Given the description of an element on the screen output the (x, y) to click on. 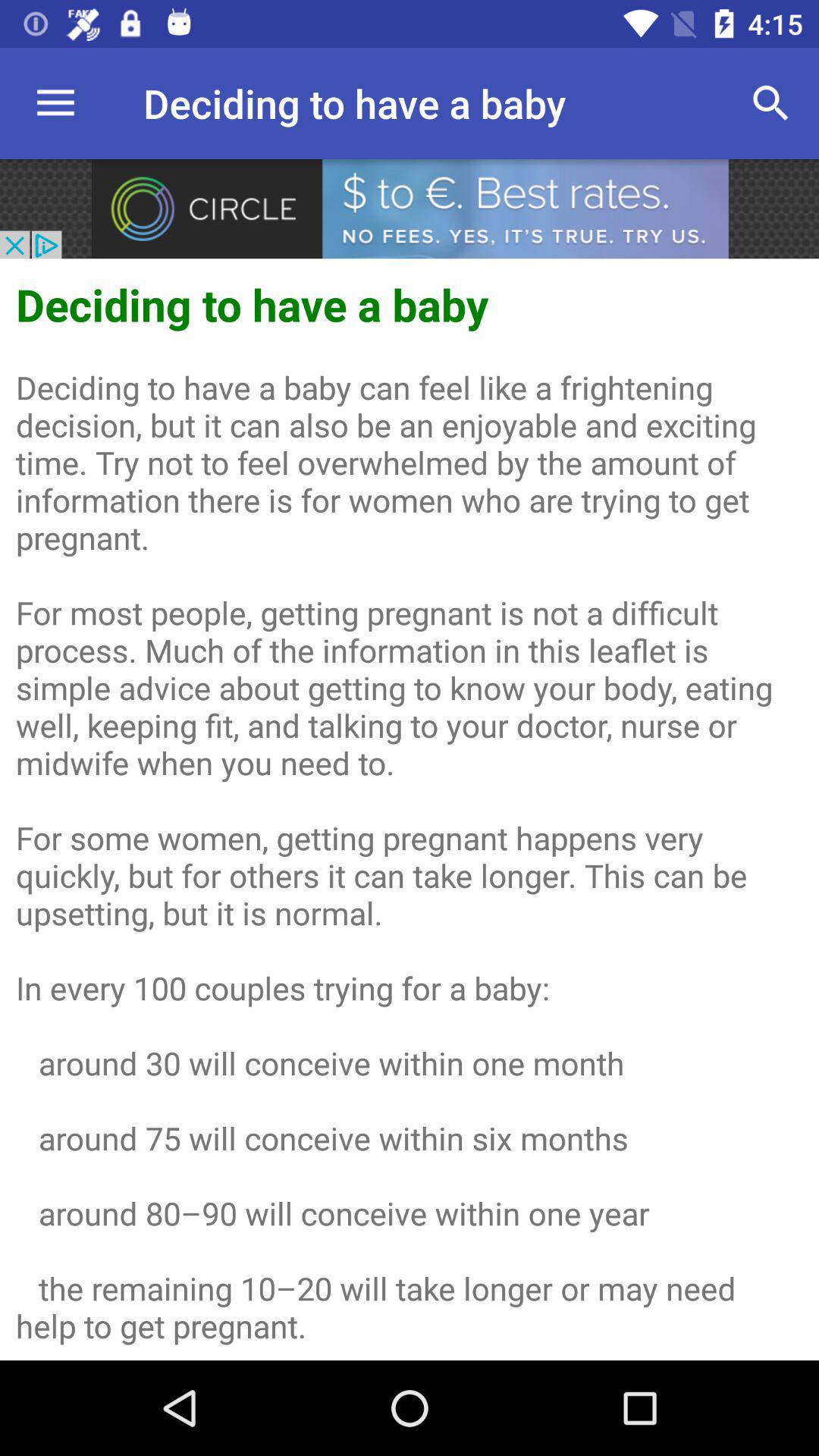
add circle (409, 208)
